Given the description of an element on the screen output the (x, y) to click on. 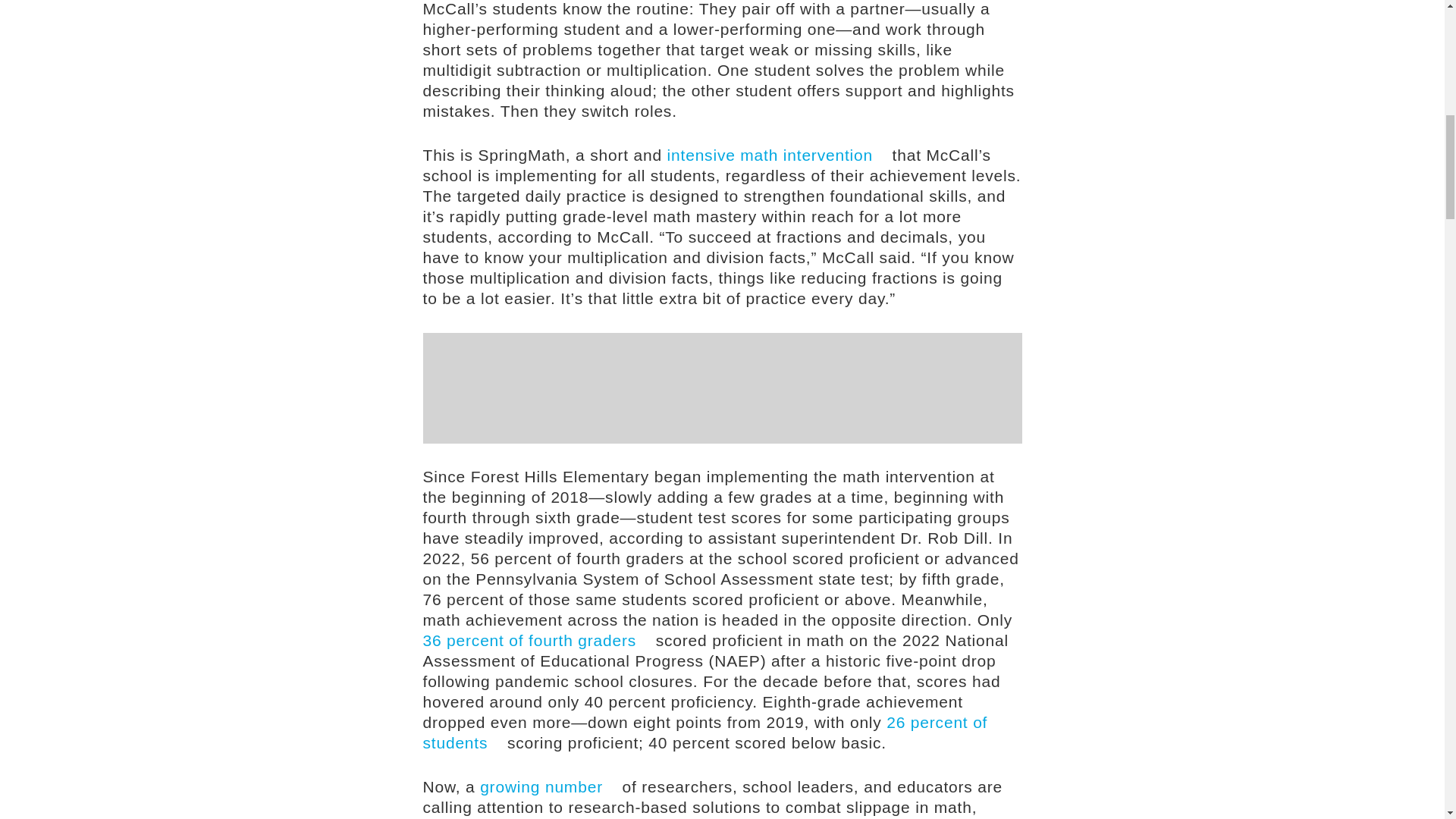
growing number (548, 786)
26 percent of students (705, 732)
36 percent of fourth graders (536, 640)
intensive math intervention (776, 154)
